Given the description of an element on the screen output the (x, y) to click on. 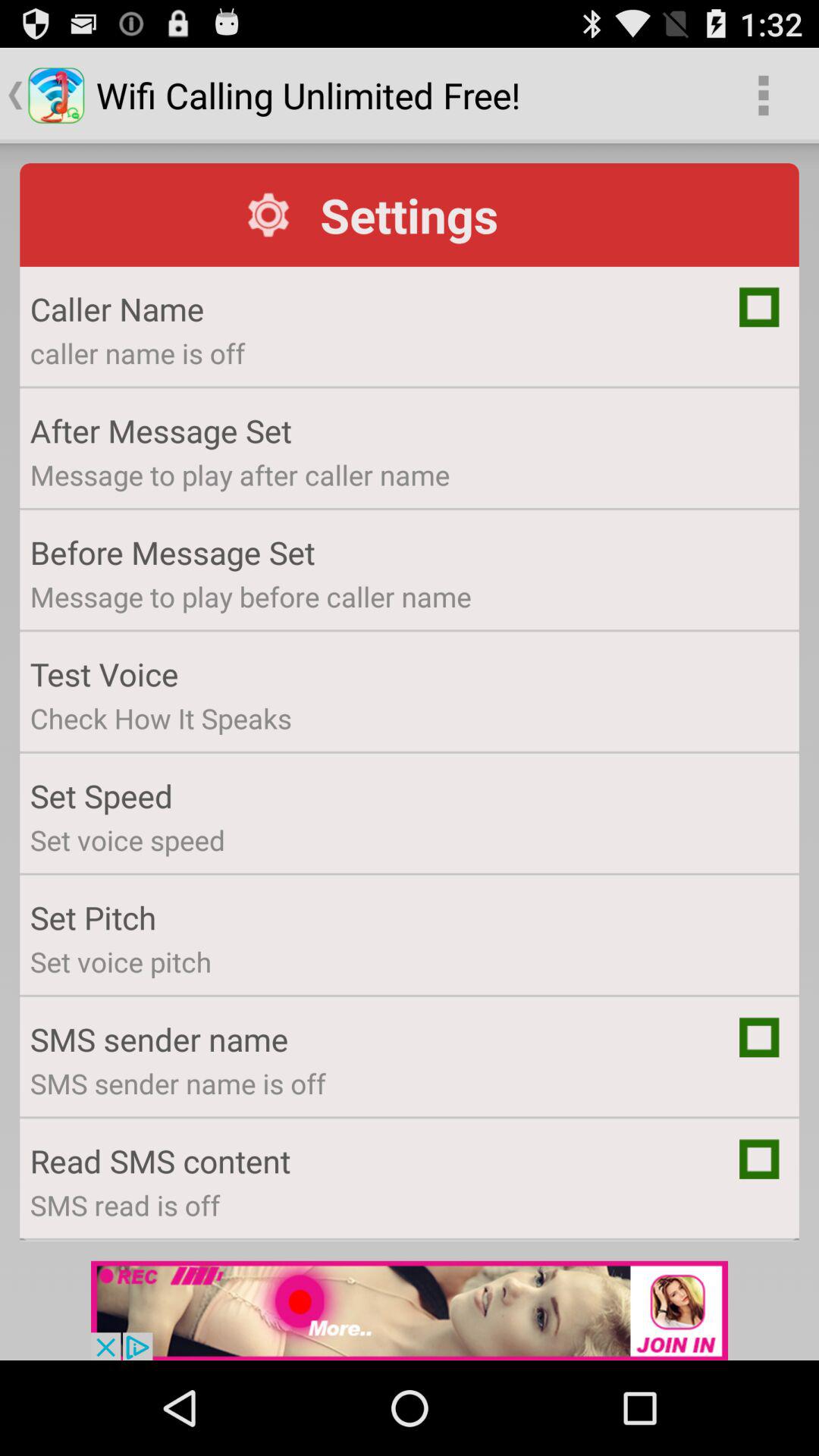
advertisement (409, 1310)
